Given the description of an element on the screen output the (x, y) to click on. 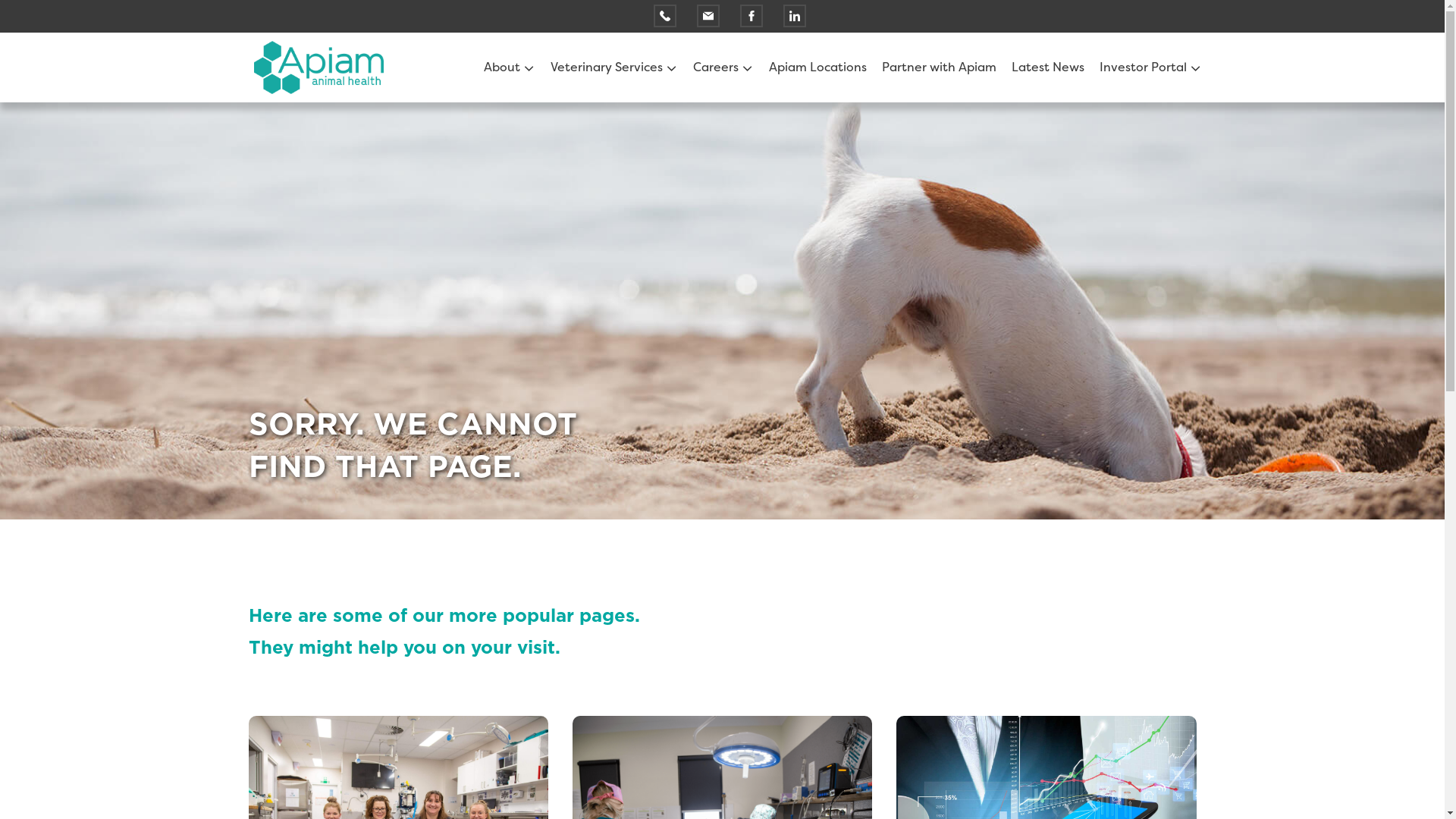
Veterinary Services Element type: text (607, 67)
Investor Portal Element type: text (1144, 67)
Careers Element type: text (717, 67)
Apiam Locations Element type: text (817, 67)
Partner with Apiam Element type: text (938, 67)
About Element type: text (503, 67)
Latest News Element type: text (1047, 67)
